Given the description of an element on the screen output the (x, y) to click on. 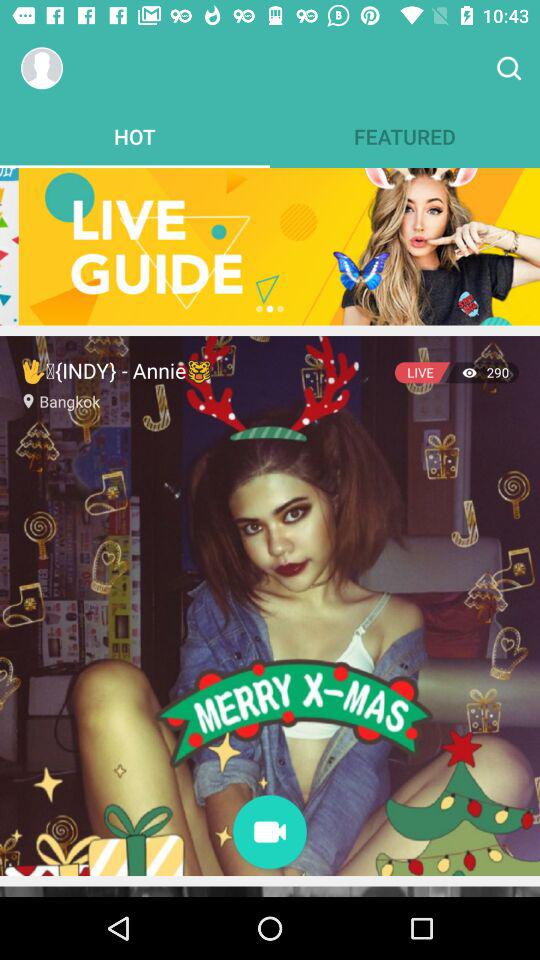
click item below the hot item (271, 246)
